Given the description of an element on the screen output the (x, y) to click on. 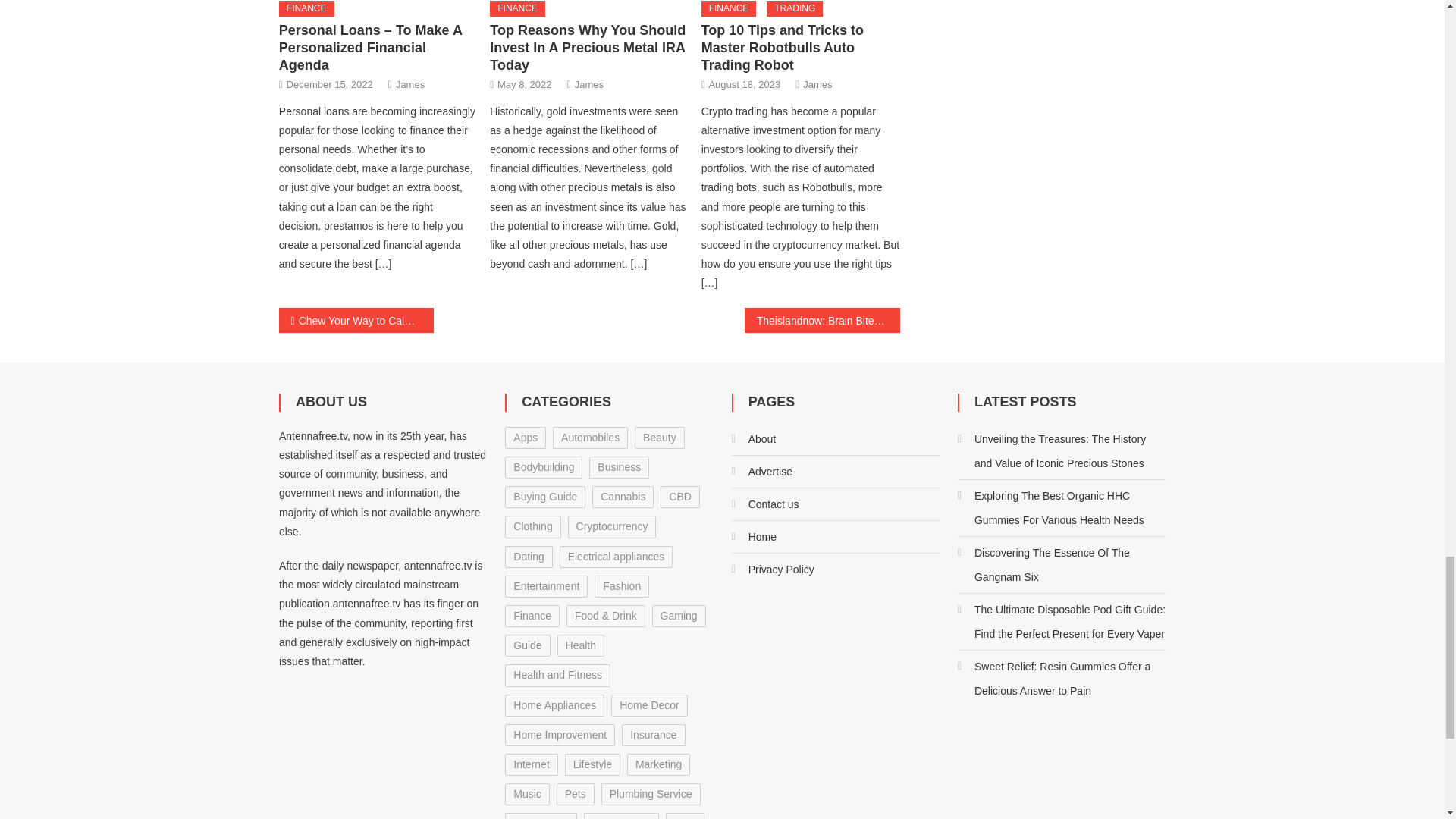
FINANCE (729, 8)
May 8, 2022 (524, 84)
James (410, 84)
James (589, 84)
FINANCE (516, 8)
FINANCE (306, 8)
December 15, 2022 (329, 84)
